Given the description of an element on the screen output the (x, y) to click on. 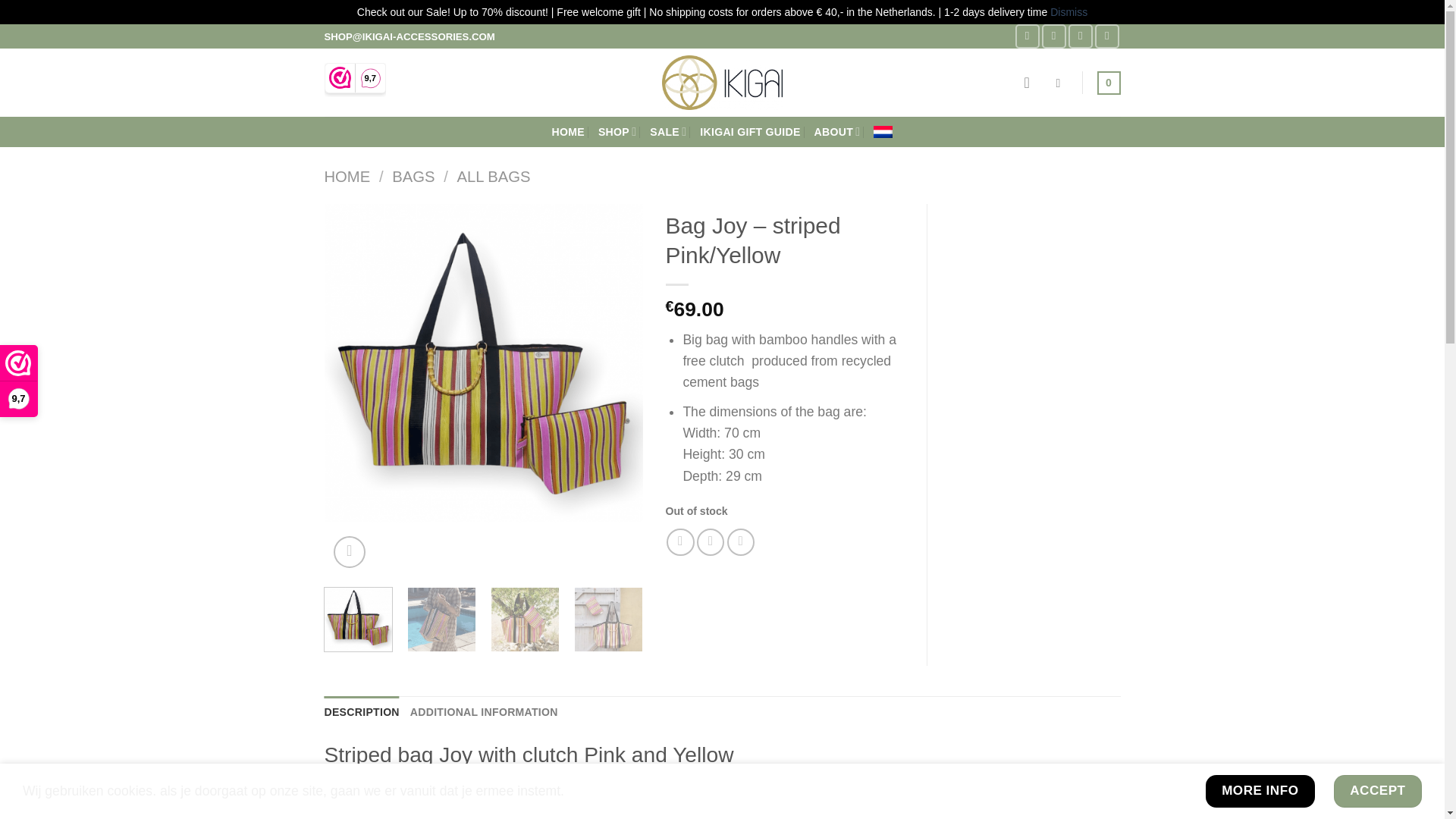
Pin on Pinterest (740, 542)
Ikigai Accessories (722, 82)
Follow on Pinterest (1106, 36)
Send us an email (1080, 36)
Follow on Instagram (1053, 36)
0 (1109, 82)
Share on Facebook (680, 542)
Follow on Facebook (1026, 36)
Cart (1109, 82)
Dismiss (1068, 11)
Login (1032, 82)
SHOP (617, 131)
Zoom (349, 552)
HOME (568, 131)
